Given the description of an element on the screen output the (x, y) to click on. 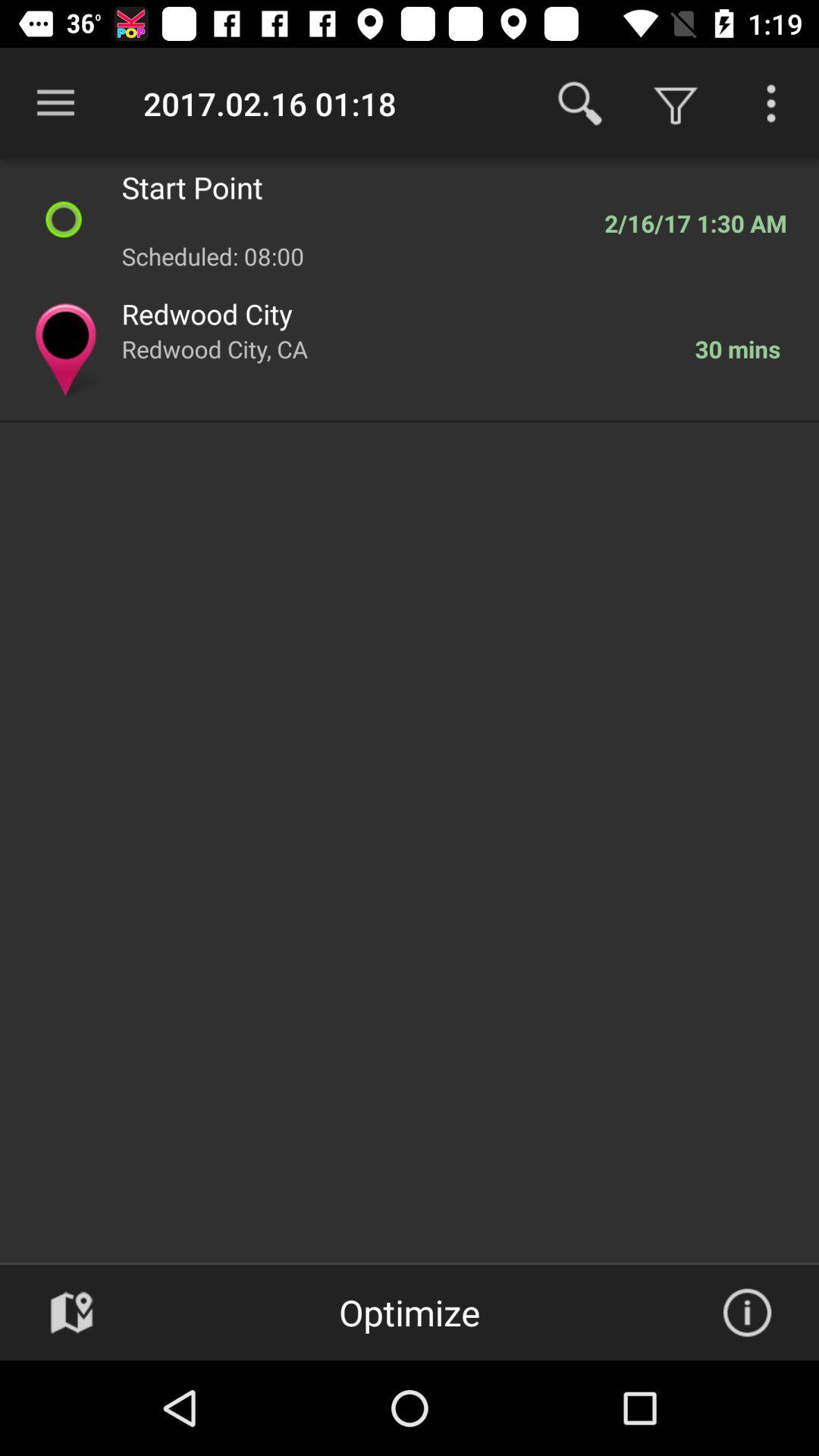
about device option (747, 1312)
